Given the description of an element on the screen output the (x, y) to click on. 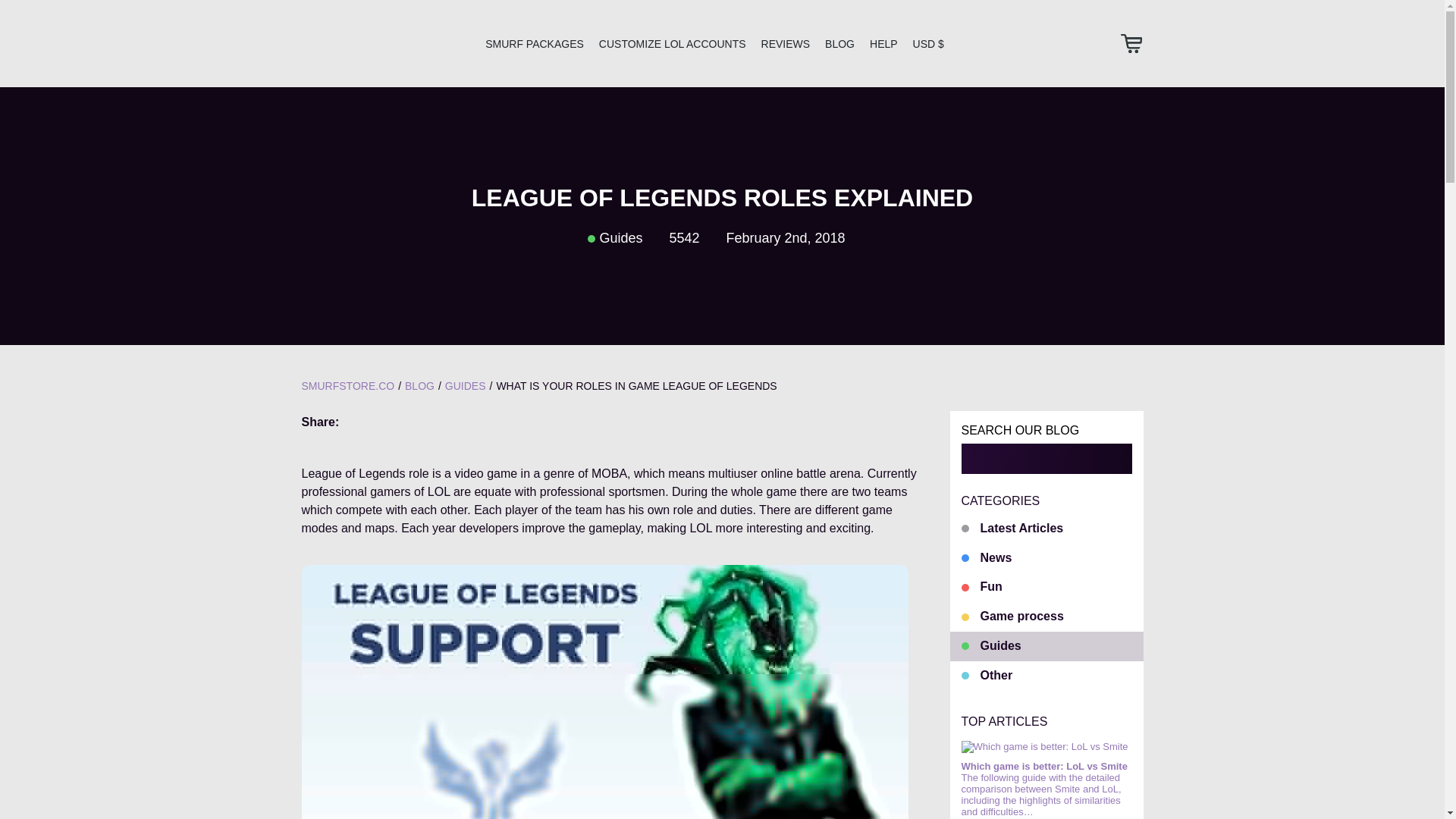
SMURF PACKAGES (533, 43)
CUSTOMIZE LOL ACCOUNTS (671, 43)
